Given the description of an element on the screen output the (x, y) to click on. 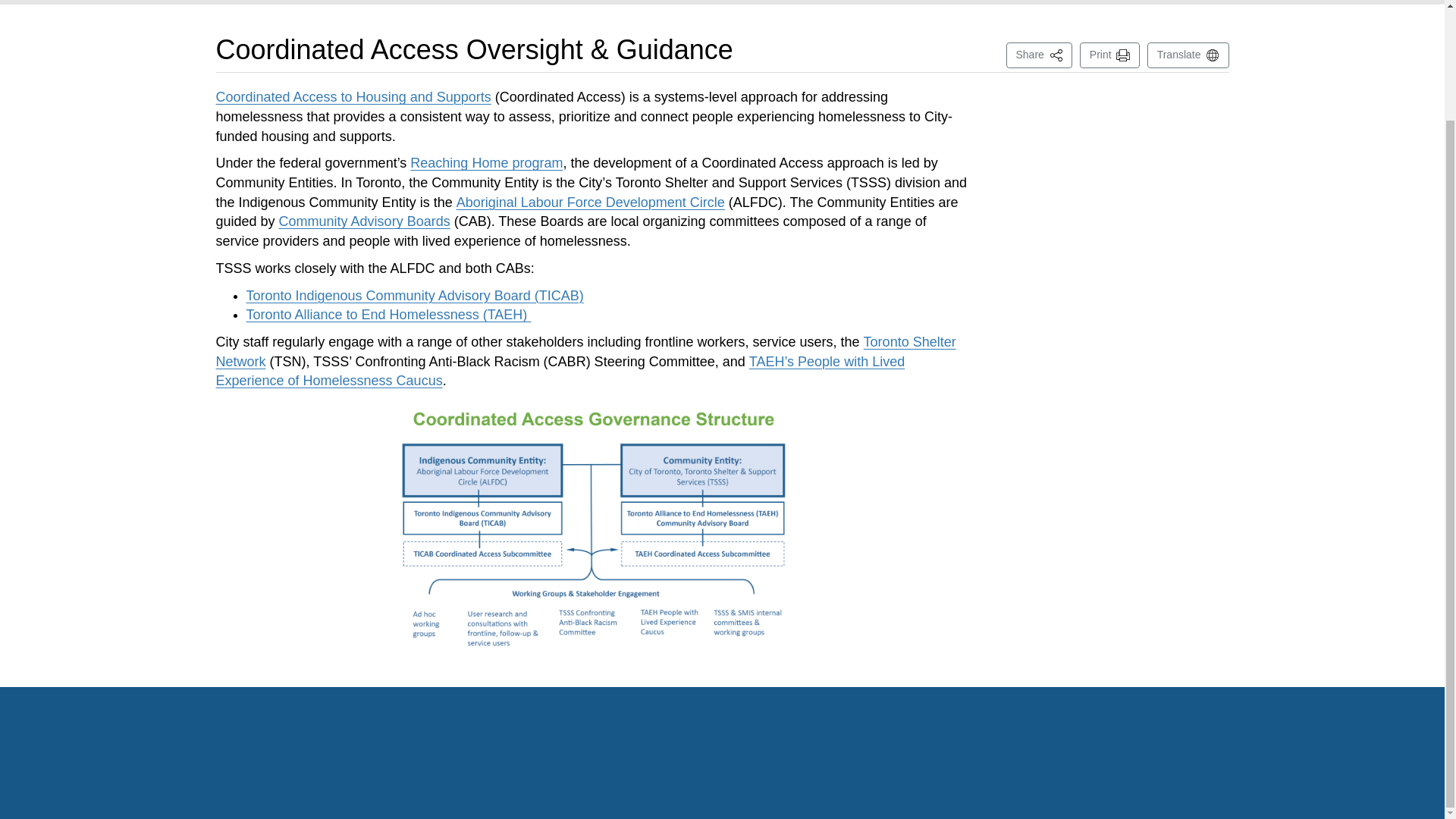
Toronto Shelter Network (585, 351)
Translate (1187, 54)
Community Advisory Boards (364, 221)
Print (1110, 54)
Coordinated Access to Housing and Supports (352, 96)
Aboriginal Labour Force Development Circle (591, 201)
Reaching Home program (486, 162)
